Given the description of an element on the screen output the (x, y) to click on. 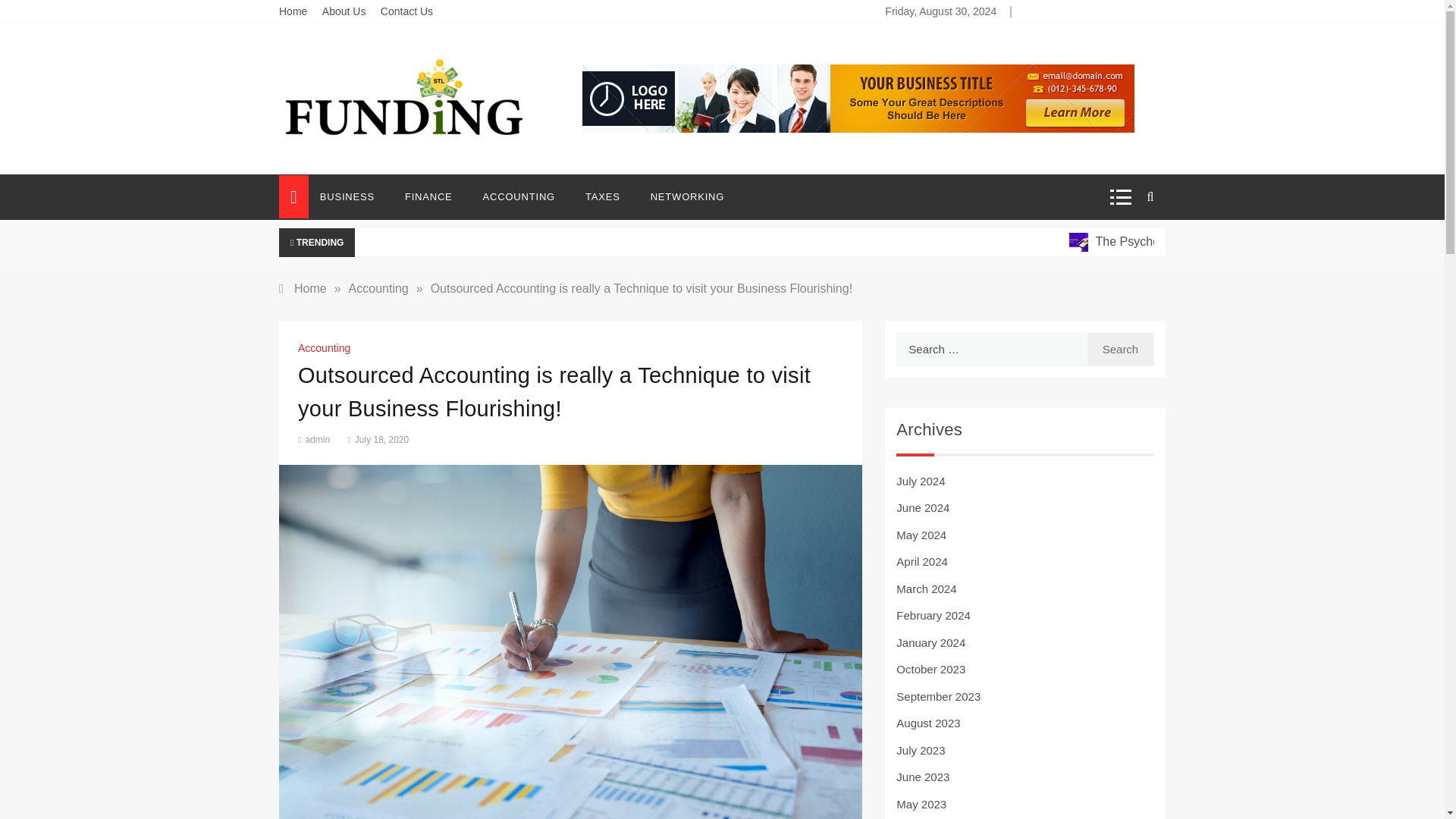
About Us (343, 10)
Home (293, 10)
FINANCE (428, 197)
NETWORKING (679, 197)
Contact Us (406, 10)
BUSINESS (355, 197)
Search (1120, 349)
ACCOUNTING (518, 197)
TAXES (602, 197)
Search (1120, 349)
